Given the description of an element on the screen output the (x, y) to click on. 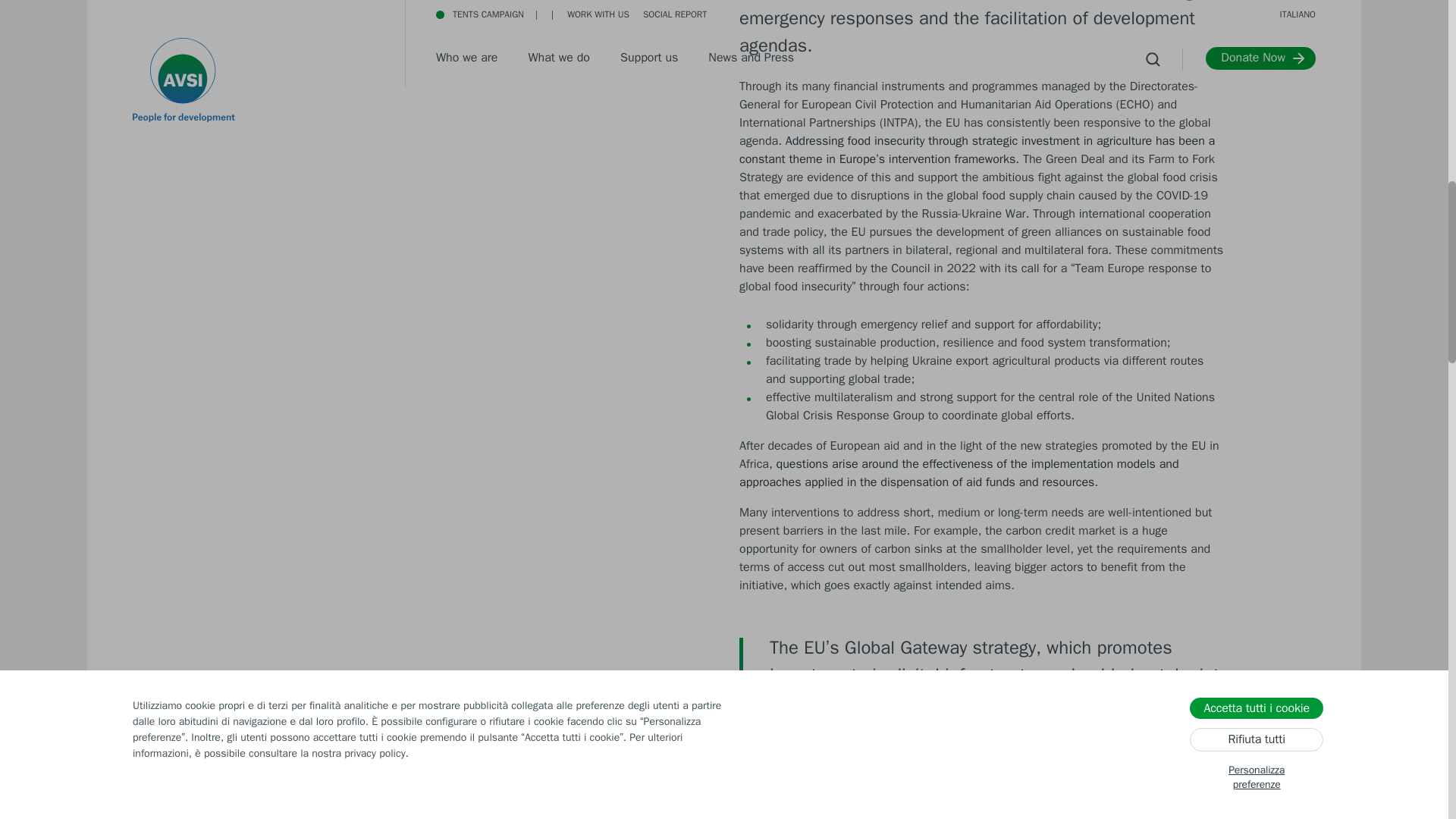
Personalizza preferenze (1256, 131)
Accetta tutti i cookie (1256, 55)
Rifiuta tutti (1256, 92)
privacy policy (373, 110)
